Given the description of an element on the screen output the (x, y) to click on. 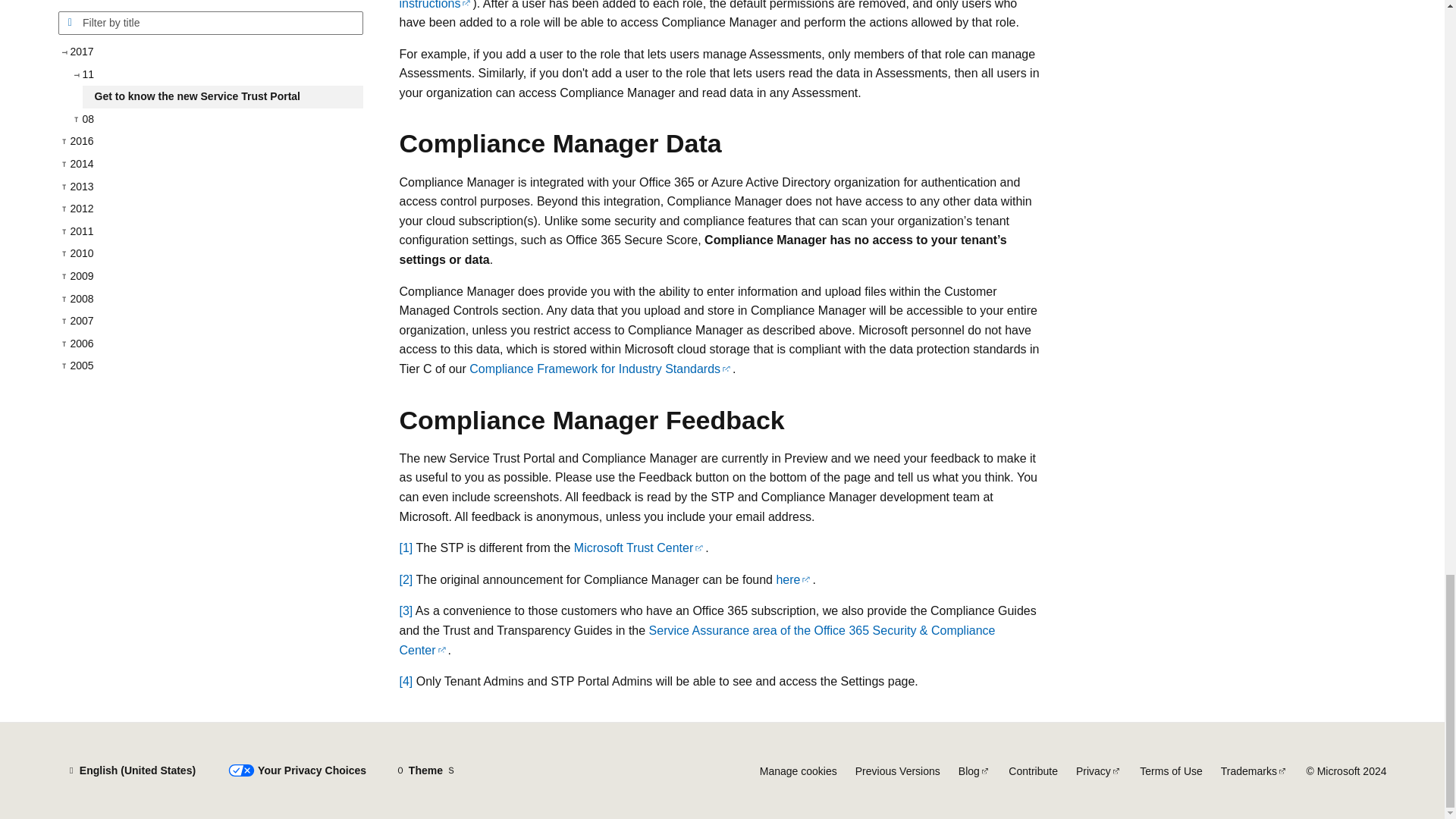
Theme (425, 770)
